Given the description of an element on the screen output the (x, y) to click on. 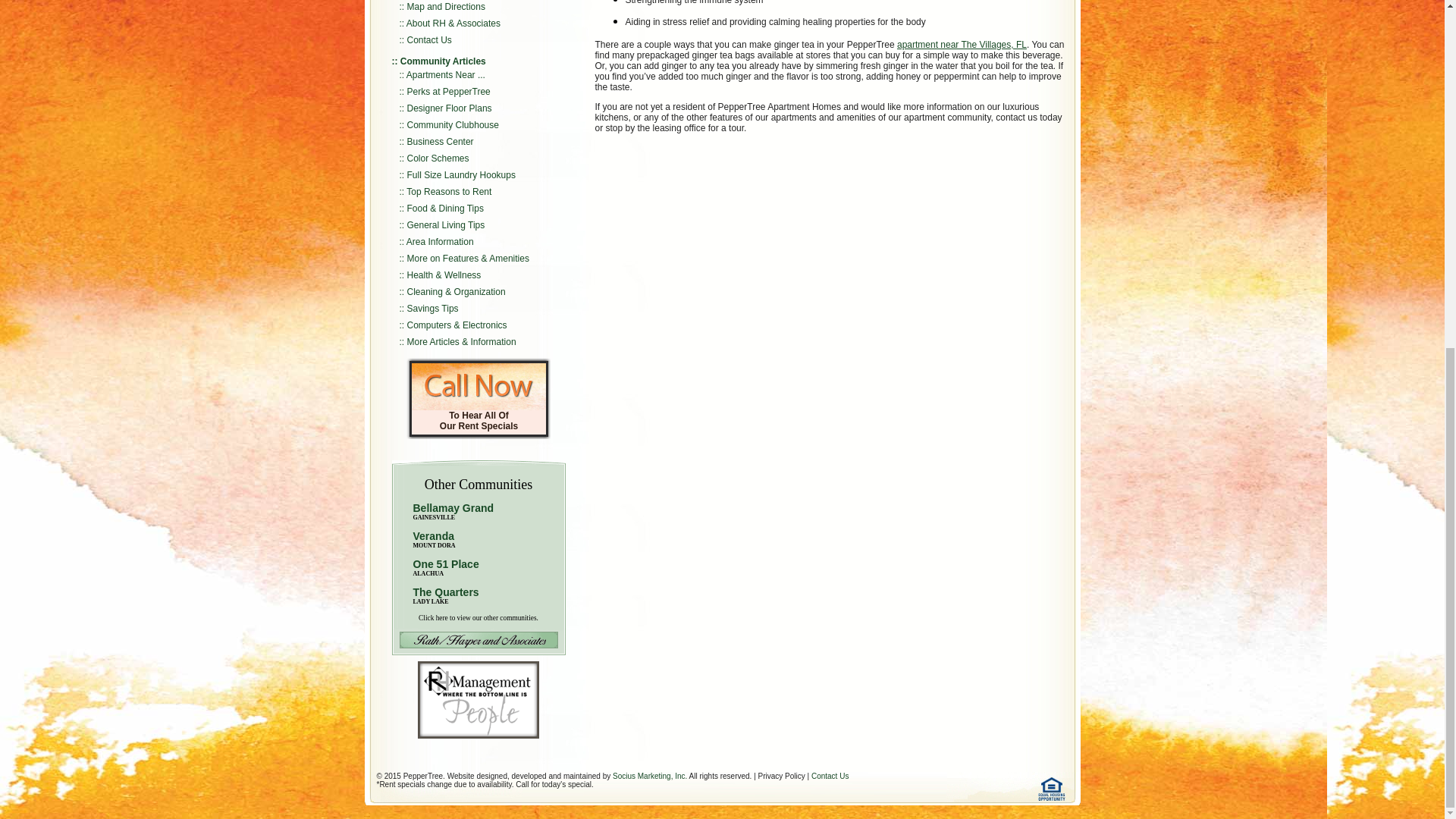
The Quarters (445, 592)
Savings Tips (432, 308)
Area Information (440, 241)
Apartments Near ... (433, 539)
Top Reasons to Rent (445, 74)
Full Size Laundry Hookups (449, 191)
Community Clubhouse (461, 174)
Community Articles (453, 124)
Designer Floor Plans (443, 61)
Map and Directions (452, 511)
Contact Us (478, 420)
Perks at PepperTree (449, 108)
